Given the description of an element on the screen output the (x, y) to click on. 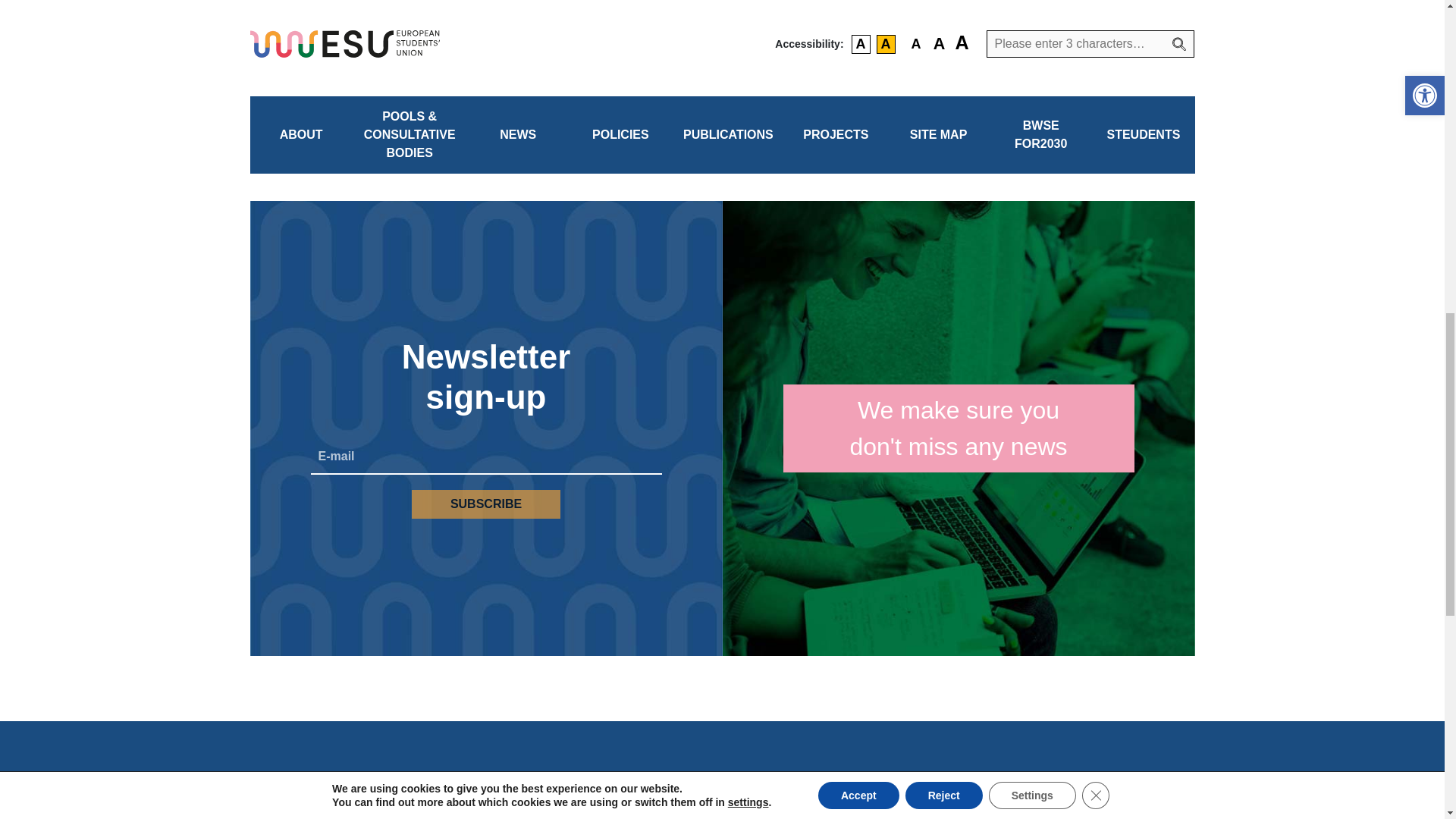
Subscribe (486, 503)
